Given the description of an element on the screen output the (x, y) to click on. 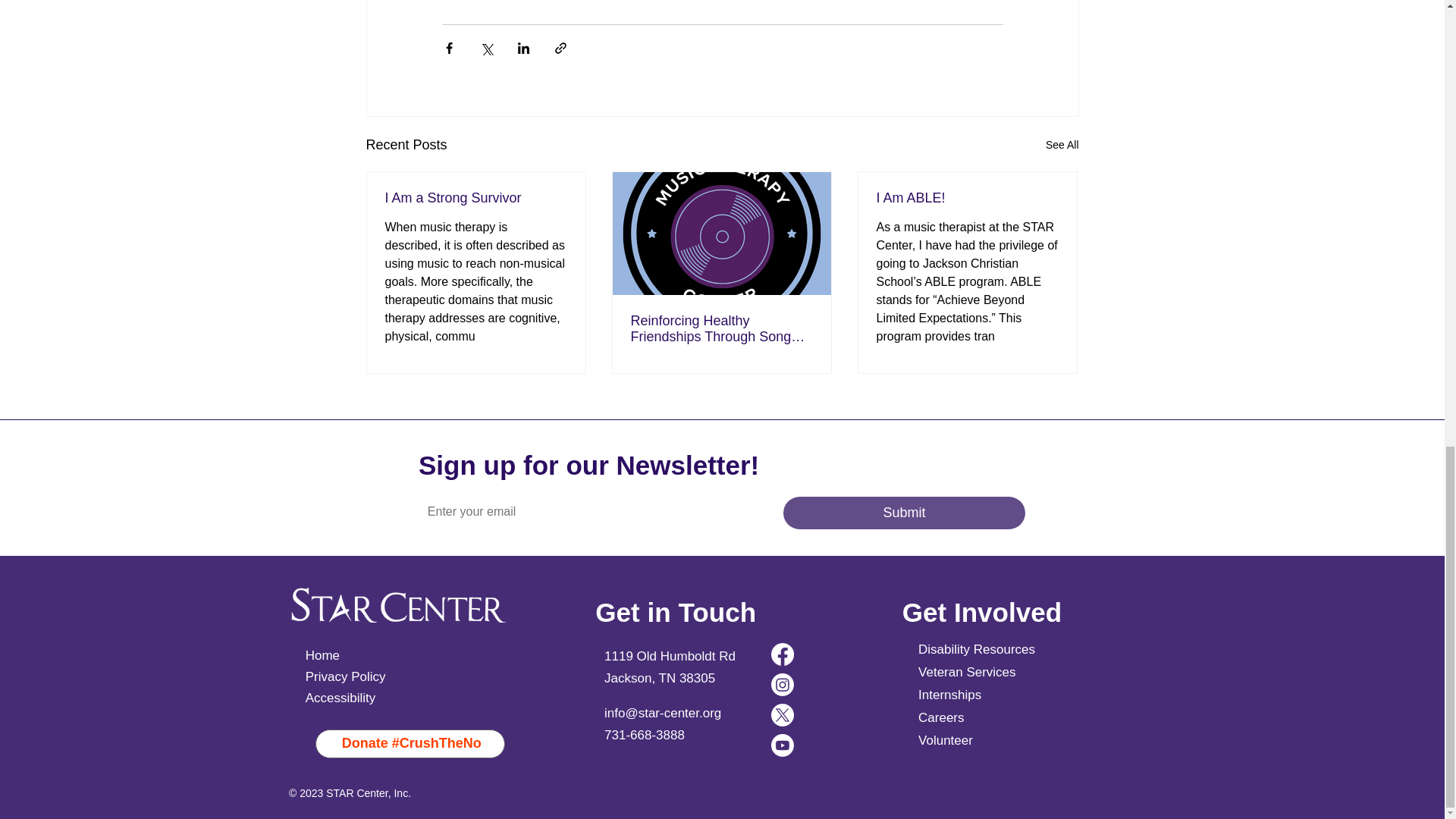
Submit (904, 512)
